Given the description of an element on the screen output the (x, y) to click on. 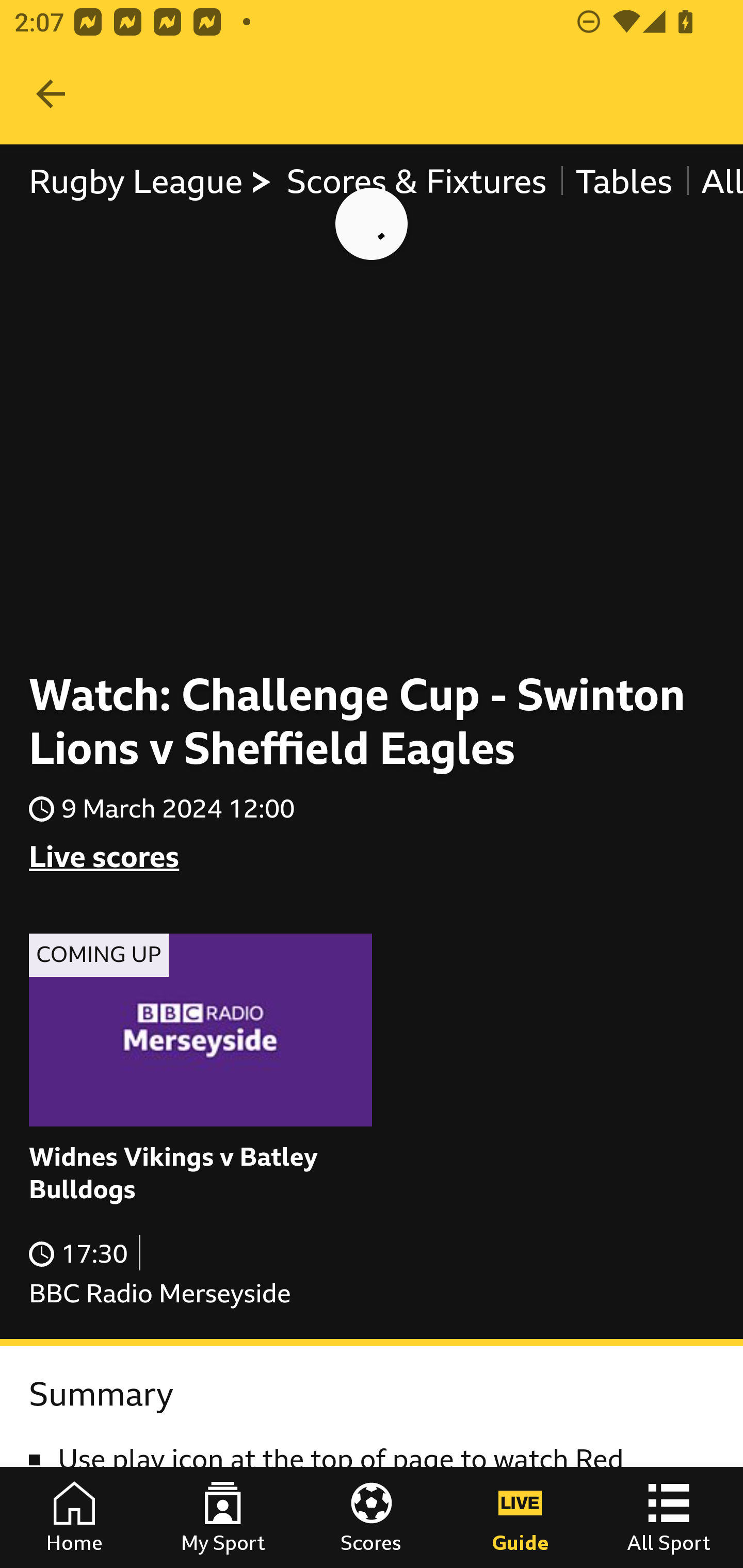
Navigate up (50, 93)
Rugby League  (150, 181)
Scores & Fixtures (416, 181)
Tables (623, 181)
Live scores (104, 856)
Home (74, 1517)
My Sport (222, 1517)
Scores (371, 1517)
All Sport (668, 1517)
